Given the description of an element on the screen output the (x, y) to click on. 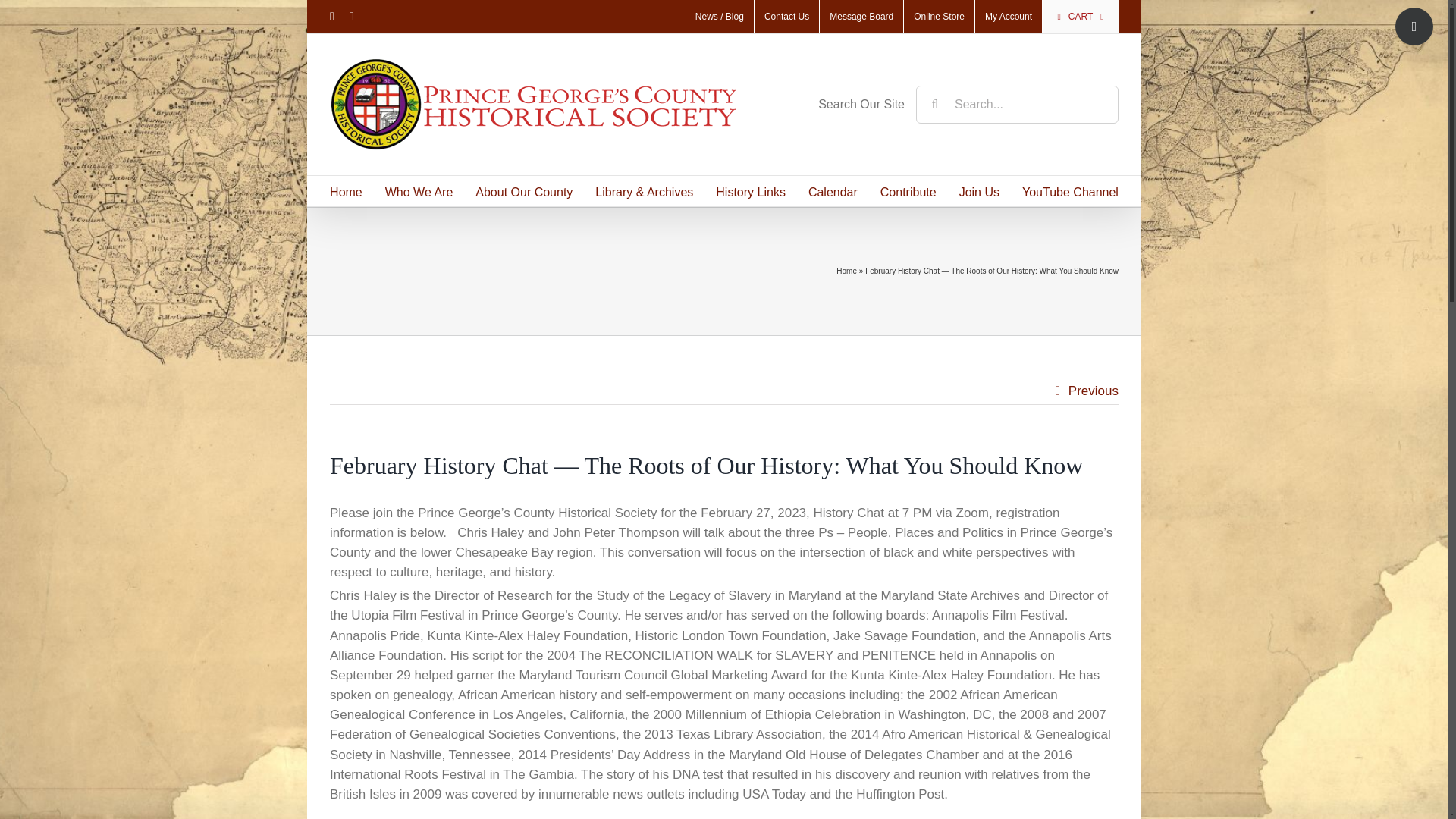
Log In (1005, 257)
CART (1080, 16)
YouTube (351, 16)
Message Board (860, 16)
Online Store (939, 16)
Home (346, 191)
Join Us (978, 191)
About Our County (524, 191)
History Links (751, 191)
Who We Are (418, 191)
Calendar (832, 191)
Facebook (332, 16)
My Account (1008, 16)
Contact Us (786, 16)
Contribute (908, 191)
